Given the description of an element on the screen output the (x, y) to click on. 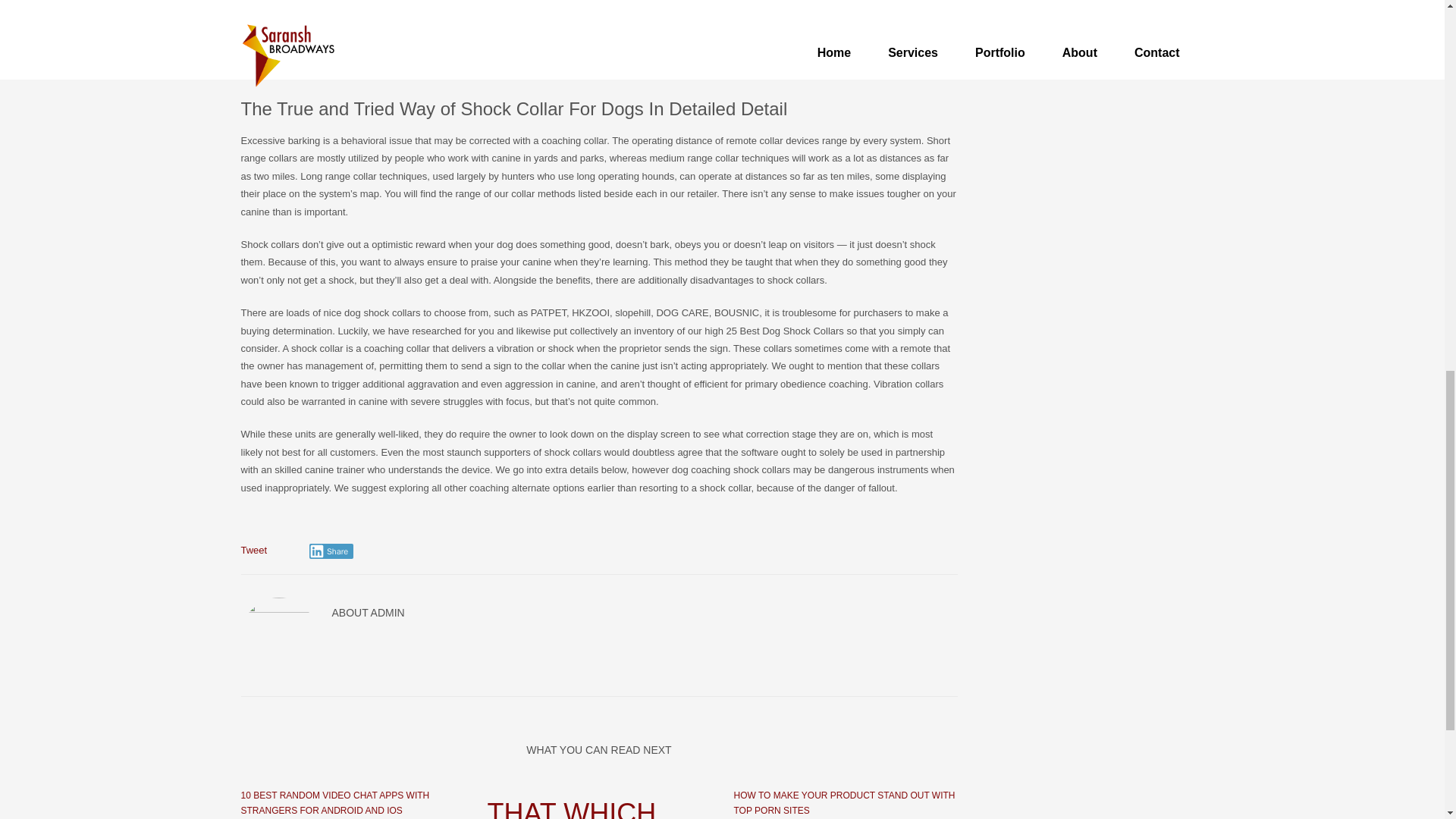
Tweet (254, 550)
THAT WHICH YOU DO NOT KNOW ABOUT NORWEGIAN GIRL (598, 808)
HOW TO MAKE YOUR PRODUCT STAND OUT WITH TOP PORN SITES (844, 802)
Share (330, 550)
